Given the description of an element on the screen output the (x, y) to click on. 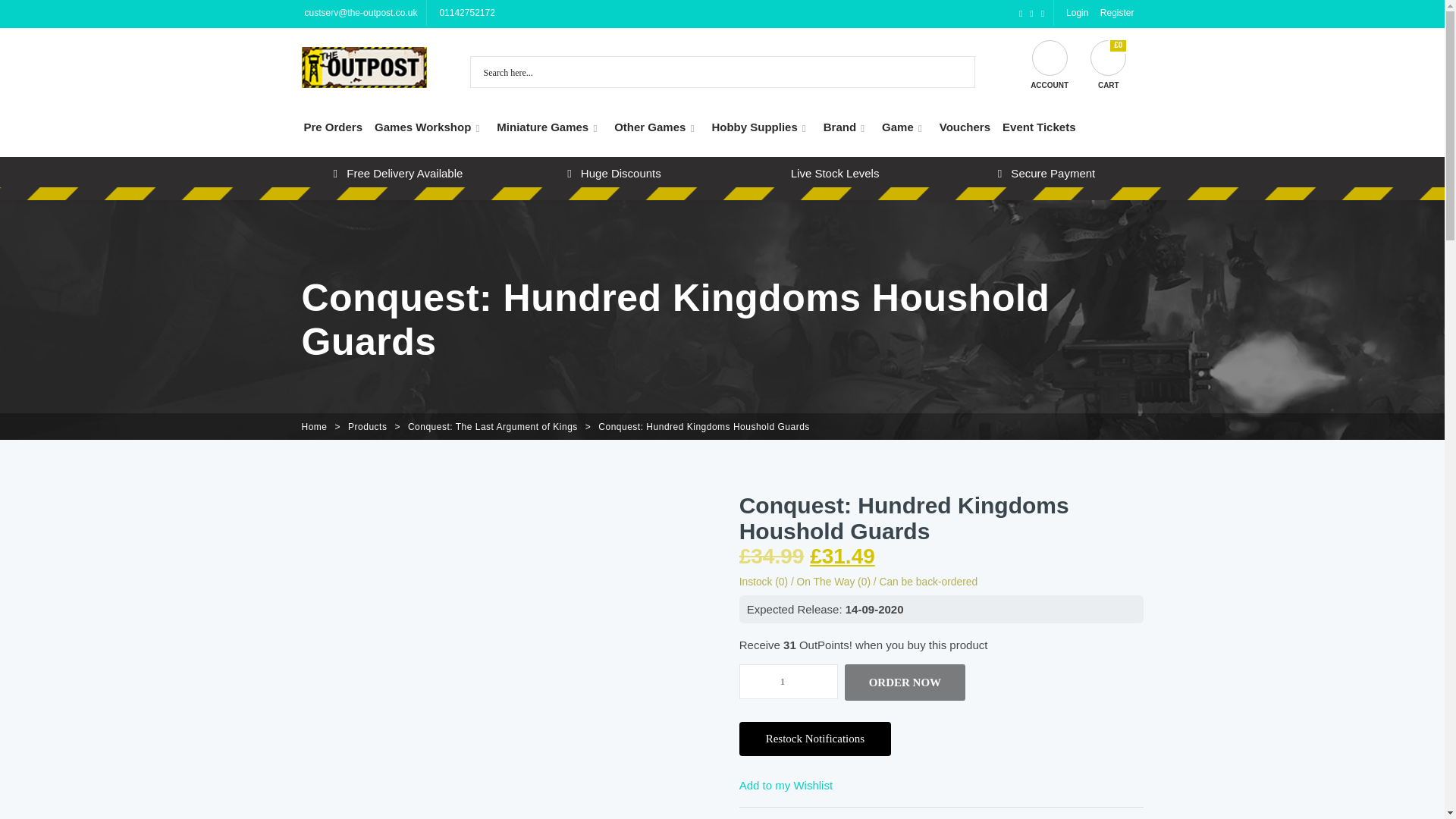
1 (788, 681)
Home (314, 426)
Restock Notifications (815, 738)
Register (1115, 12)
Login (1074, 12)
Conquest: The Last Argument of Kings (492, 426)
Products (367, 426)
01142752172 (464, 12)
Pre Orders (332, 126)
Conquest: Hundred Kingdoms Houshold Guards (703, 426)
